Given the description of an element on the screen output the (x, y) to click on. 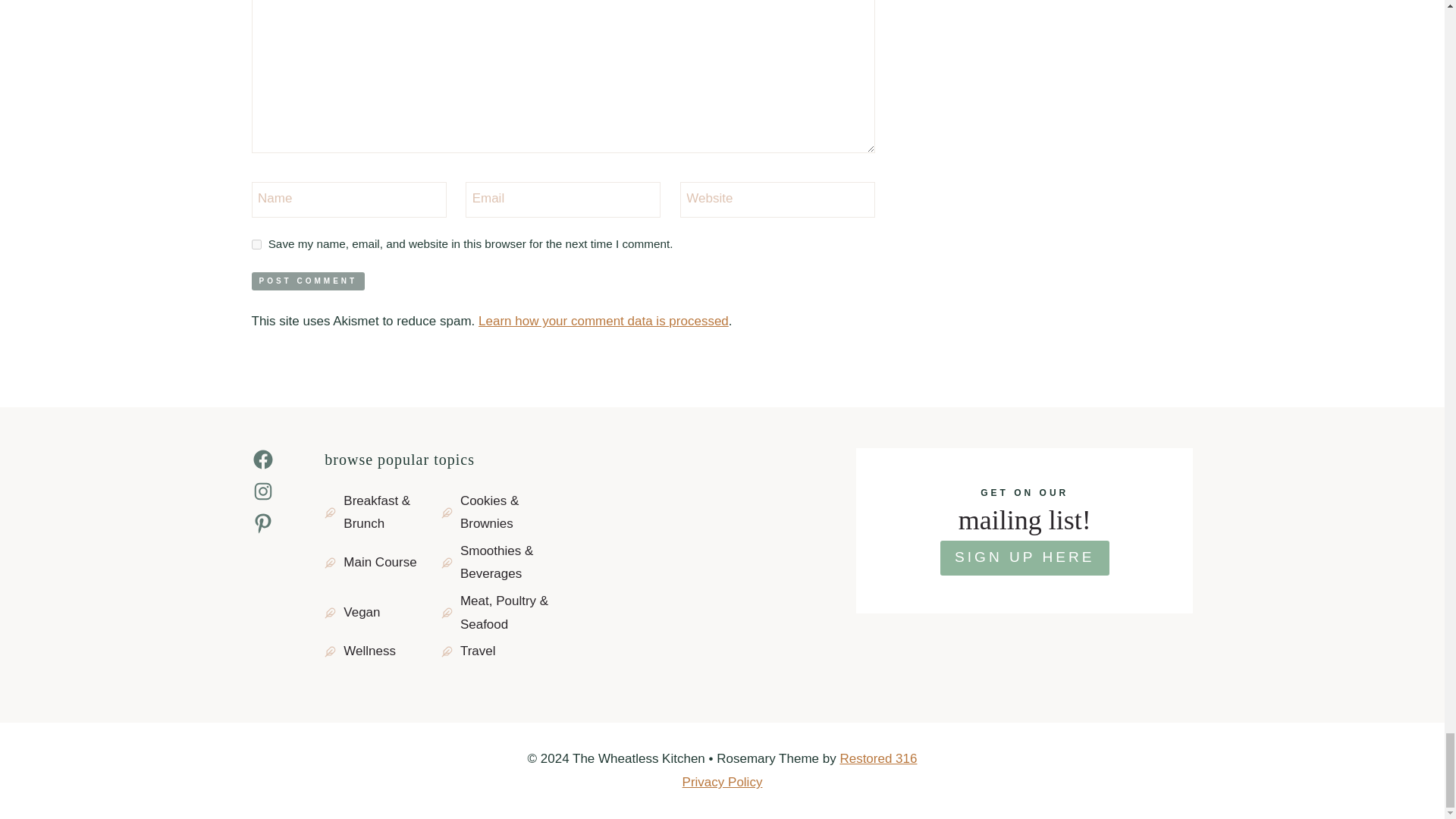
Post Comment (308, 280)
yes (256, 244)
